Given the description of an element on the screen output the (x, y) to click on. 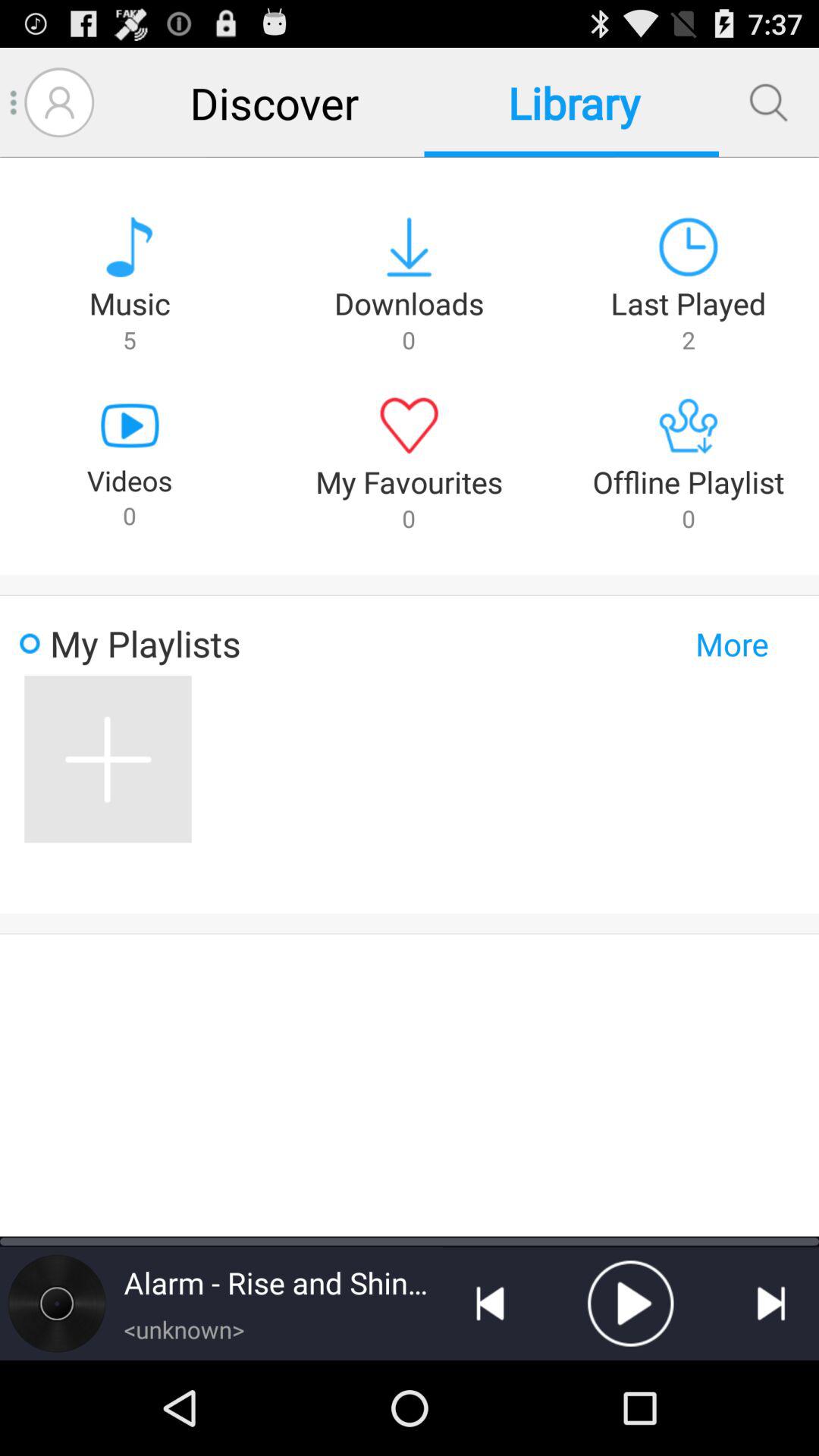
choose the item at the bottom left corner (56, 1303)
